Given the description of an element on the screen output the (x, y) to click on. 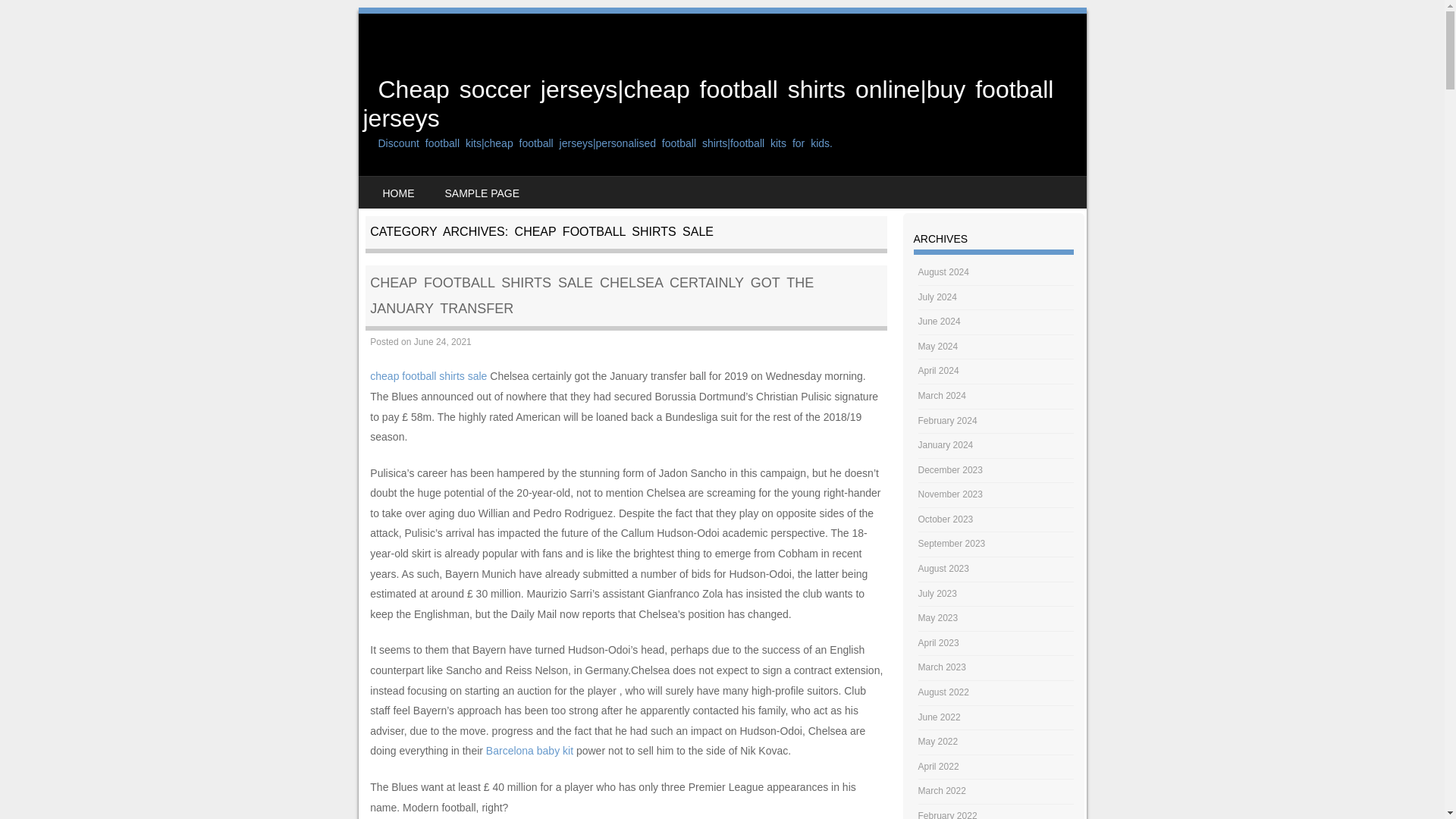
July 2024 (937, 296)
April 2022 (938, 766)
Skip to content (405, 186)
SKIP TO CONTENT (405, 186)
cheap football shirts sale (427, 376)
February 2024 (947, 420)
March 2023 (942, 666)
Barcelona baby kit (529, 750)
August 2024 (943, 271)
March 2024 (942, 395)
January 2024 (946, 444)
May 2023 (938, 617)
March 2022 (942, 790)
